Given the description of an element on the screen output the (x, y) to click on. 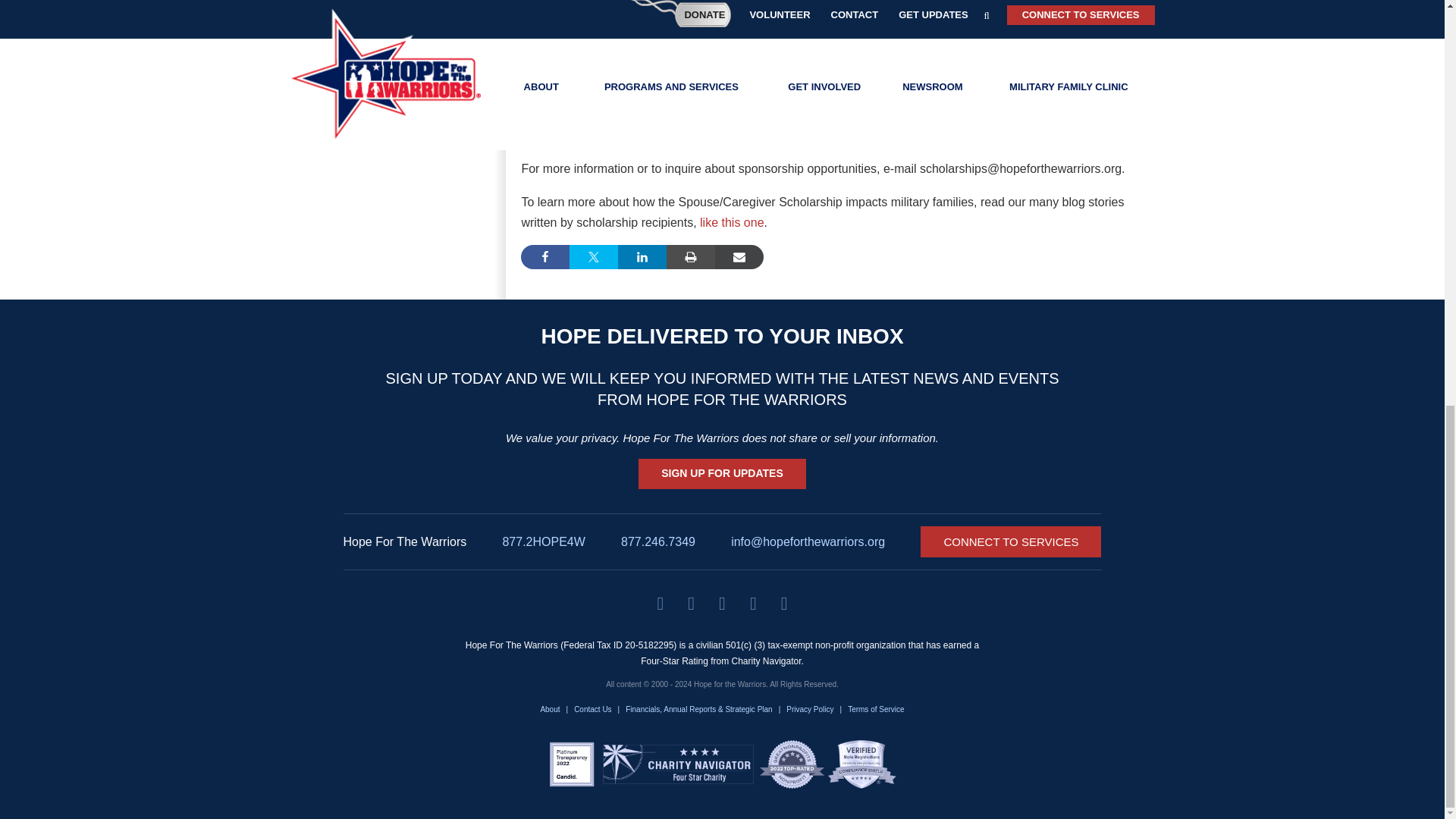
Share on LinkedIn (641, 256)
Share on Facebook (545, 256)
Share via Email (738, 256)
Share on Twitter (593, 256)
Print this Page (690, 256)
